Given the description of an element on the screen output the (x, y) to click on. 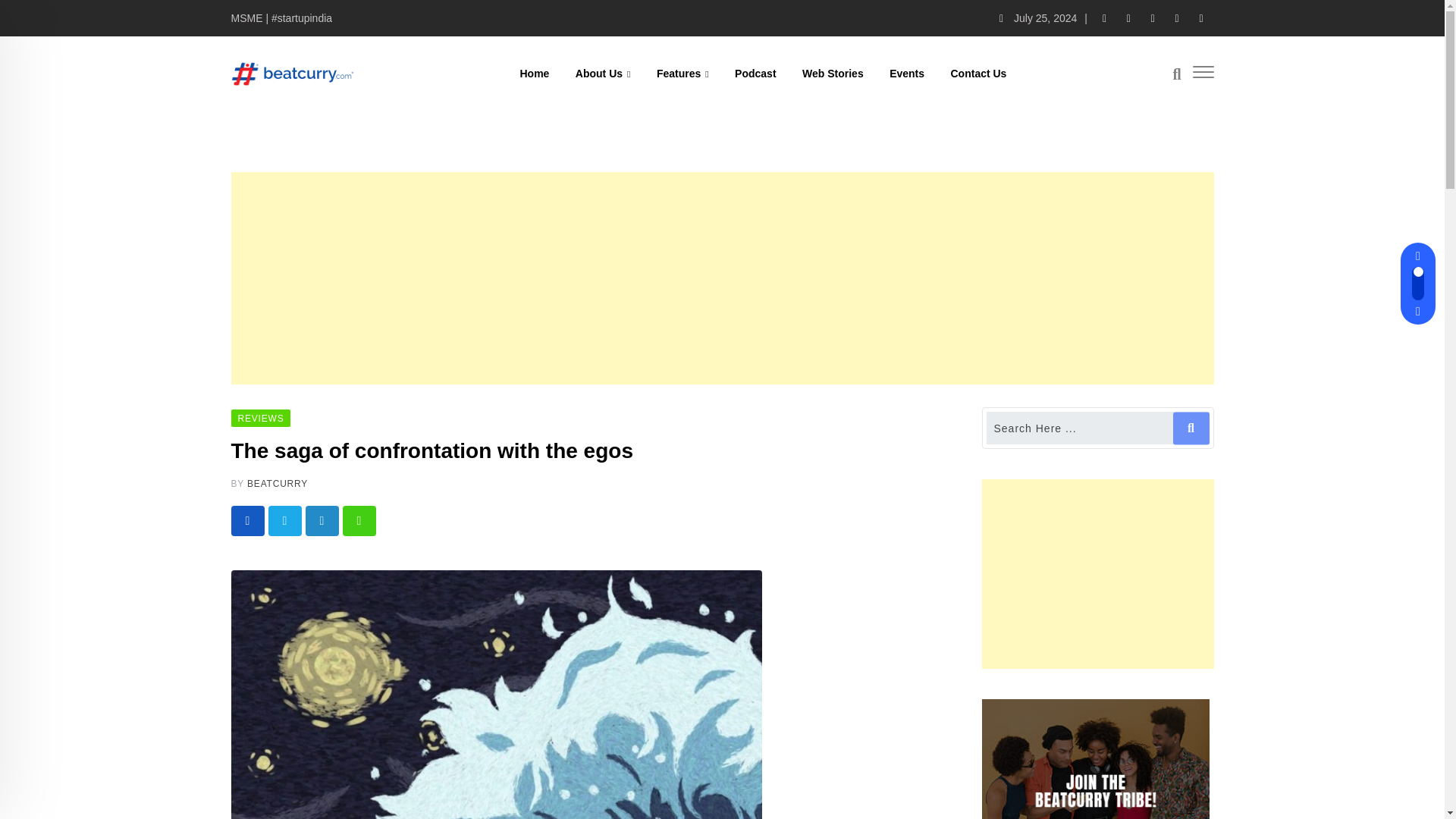
Contact Us (978, 73)
Posts by BeatCurry (277, 483)
Advertisement (1096, 574)
Features (682, 73)
Web Stories (832, 73)
About Us (603, 73)
